Given the description of an element on the screen output the (x, y) to click on. 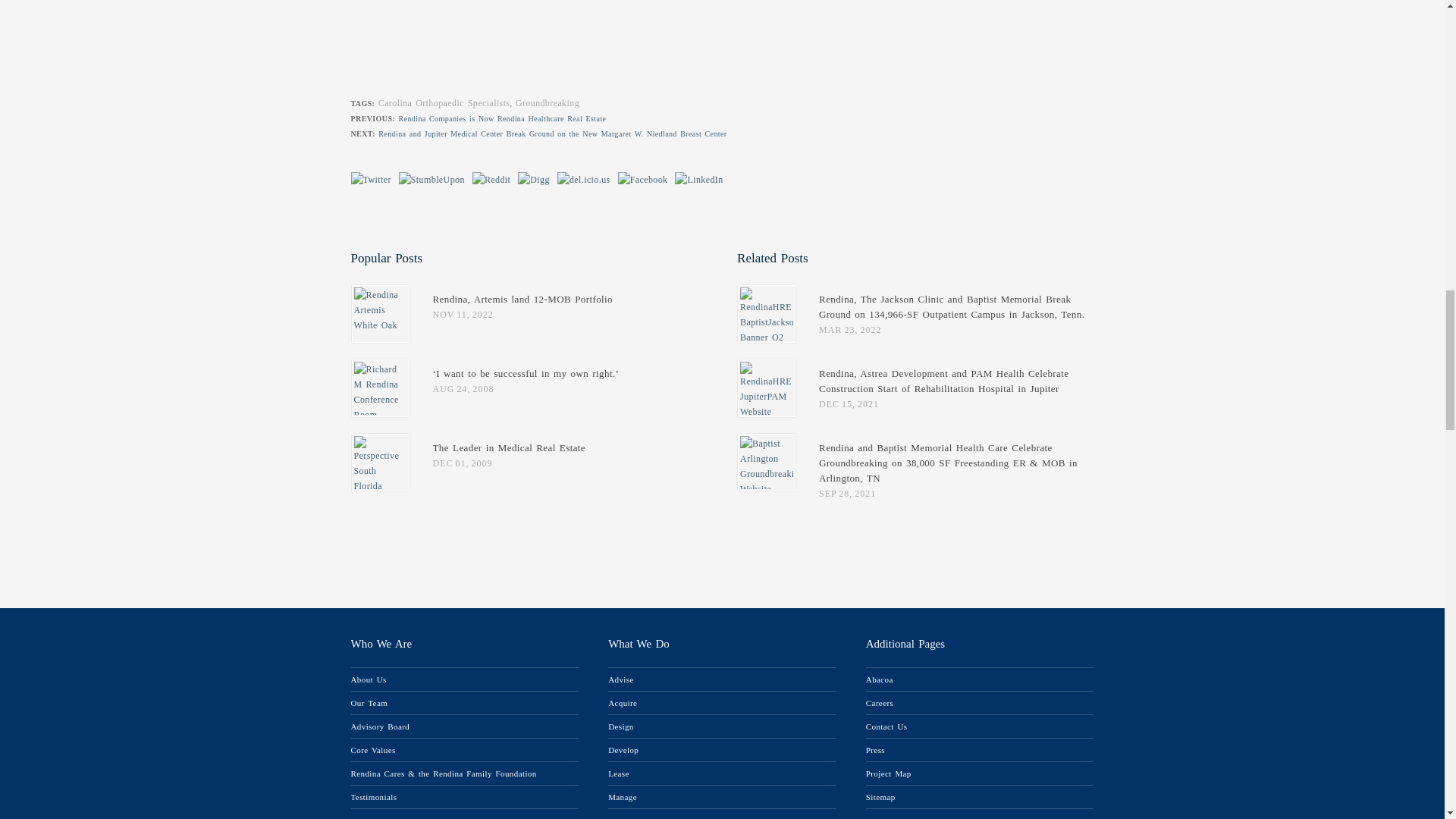
Rendina, Artemis land 12-MOB Portfolio (522, 298)
Carolina Orthopaedic Specialists (444, 102)
Rendina Companies is Now Rendina Healthcare Real Estate (502, 118)
Groundbreaking (547, 102)
